Given the description of an element on the screen output the (x, y) to click on. 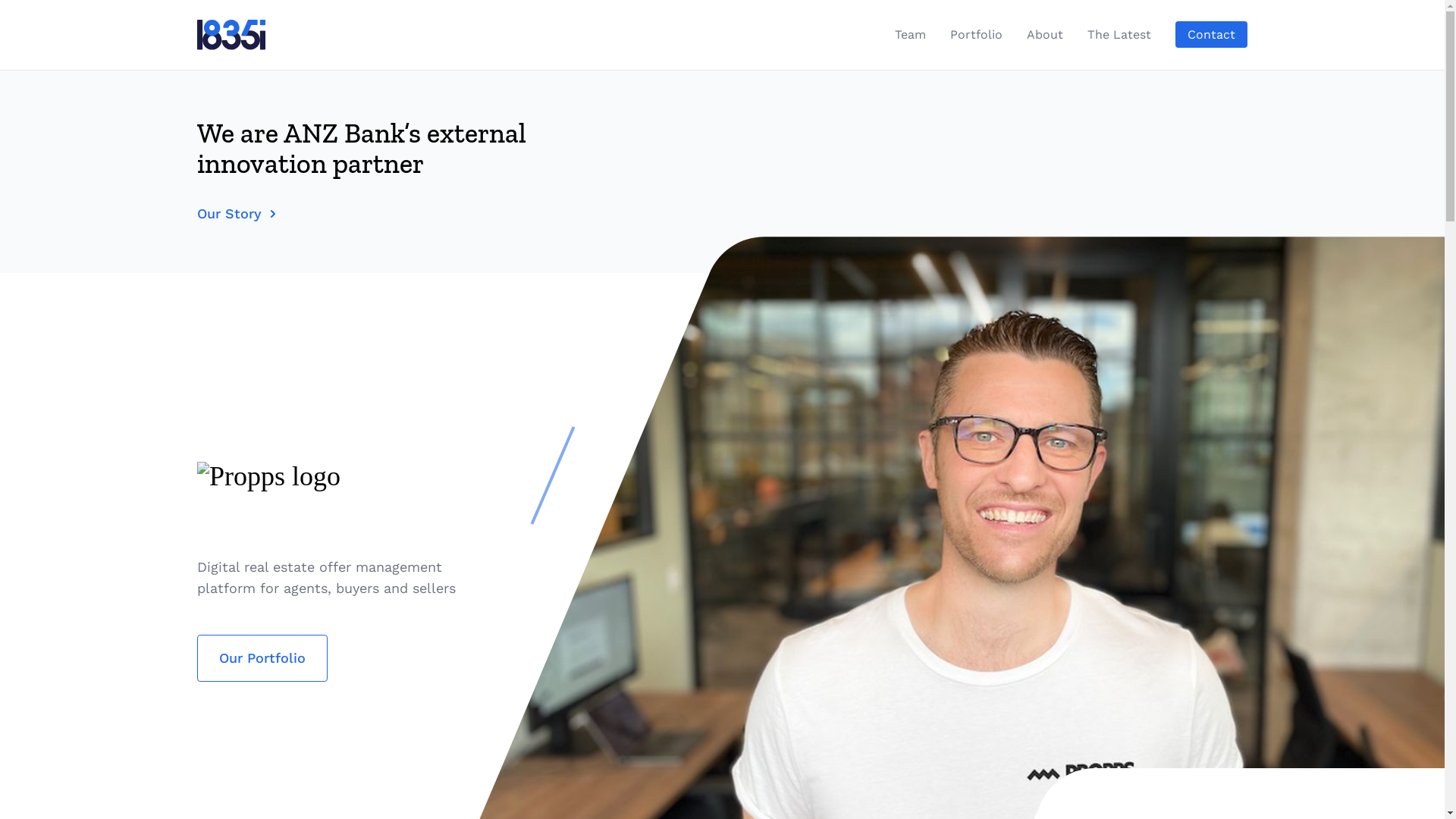
Portfolio Element type: text (976, 34)
Contact Element type: text (1211, 34)
Home Page Element type: hover (231, 34)
Team Element type: text (909, 34)
Our Story Element type: text (391, 213)
About Element type: text (1044, 34)
The Latest Element type: text (1119, 34)
Our Portfolio Element type: text (262, 657)
